Given the description of an element on the screen output the (x, y) to click on. 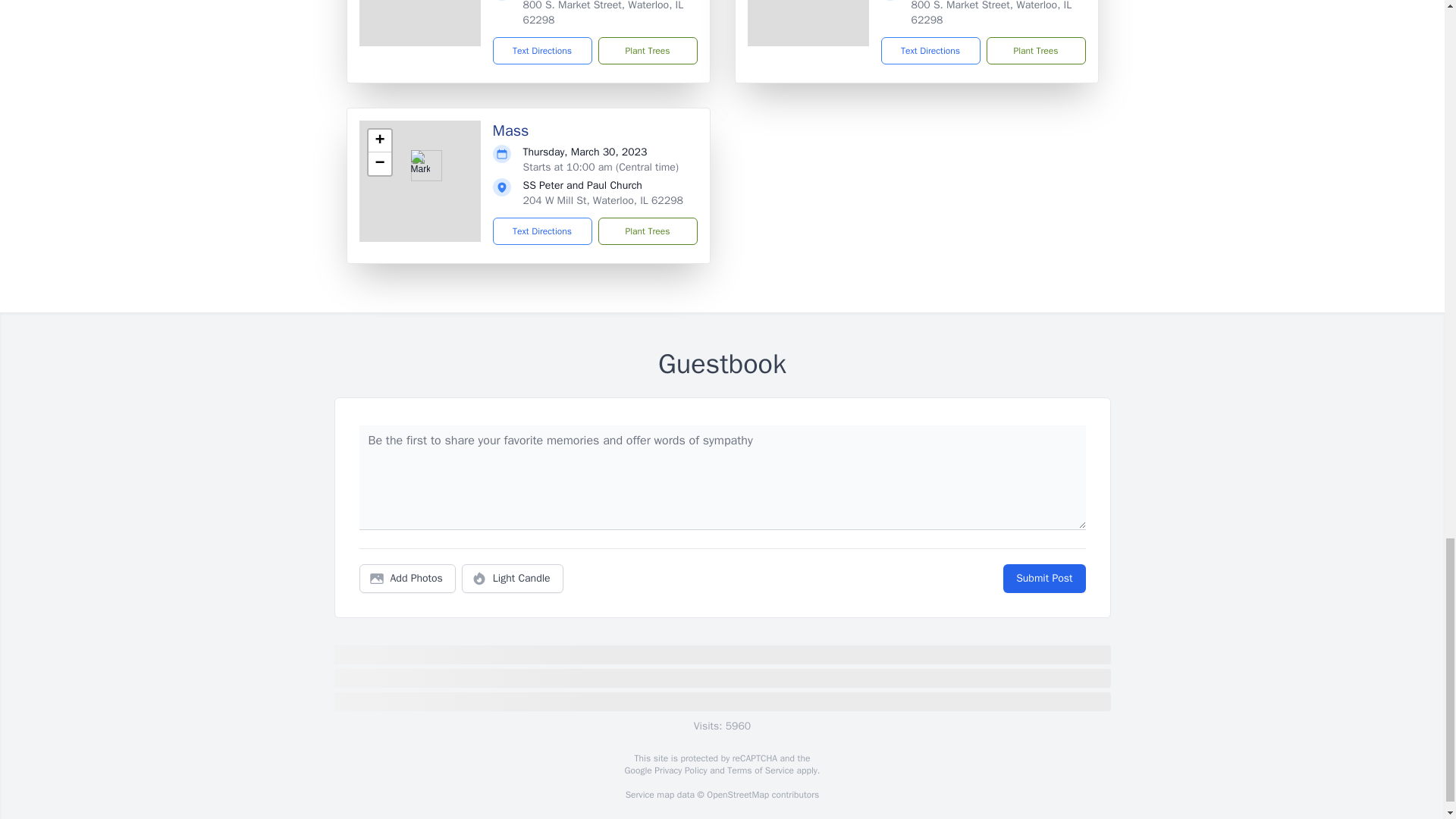
Text Directions (542, 50)
204 W Mill St, Waterloo, IL 62298 (602, 200)
Plant Trees (646, 230)
Plant Trees (1034, 50)
Text Directions (542, 230)
800 S. Market Street, Waterloo, IL 62298 (603, 13)
Zoom out (379, 163)
Text Directions (929, 50)
800 S. Market Street, Waterloo, IL 62298 (991, 13)
Zoom in (379, 140)
Plant Trees (646, 50)
